Given the description of an element on the screen output the (x, y) to click on. 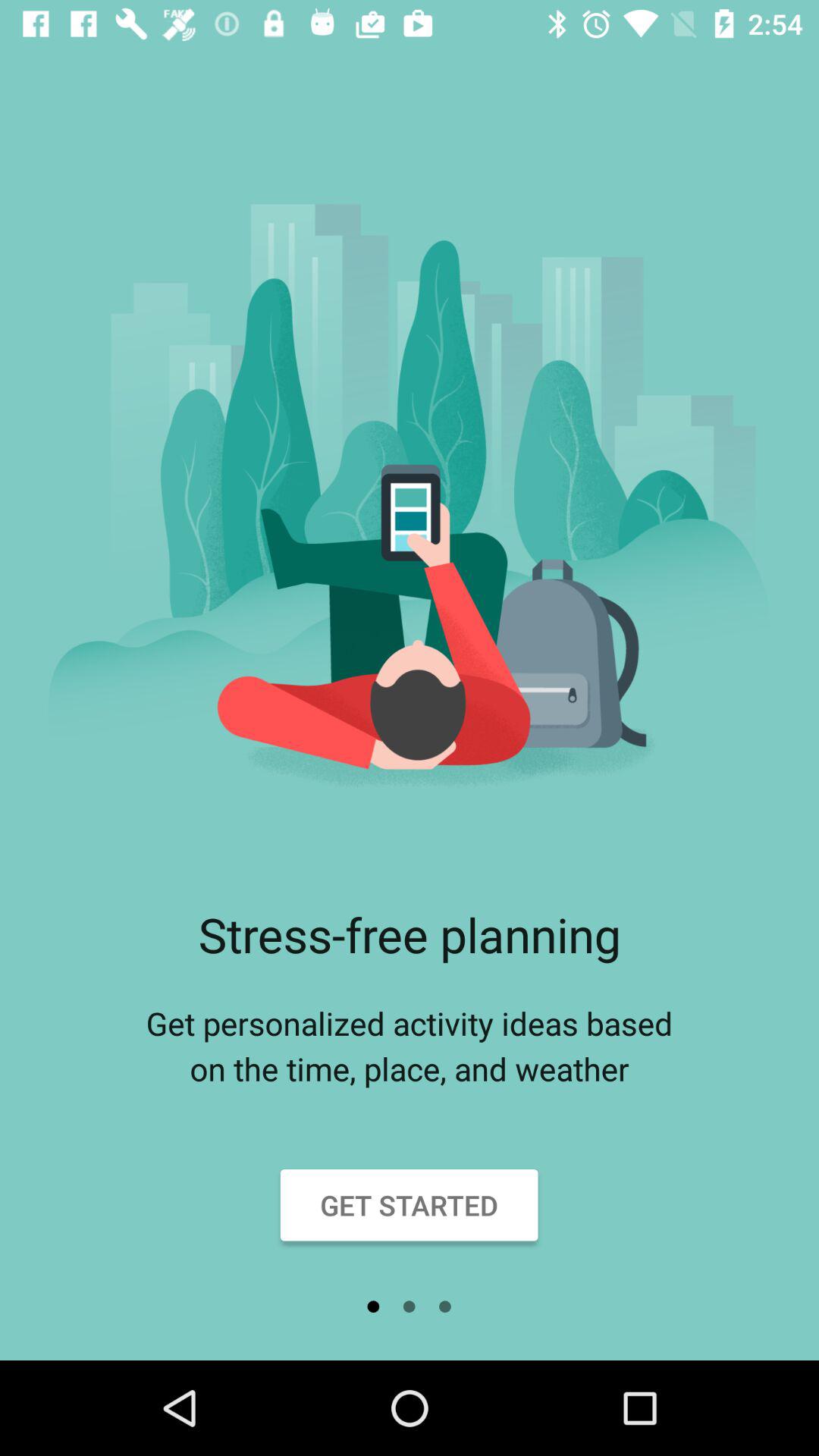
open the item below get started (444, 1306)
